Given the description of an element on the screen output the (x, y) to click on. 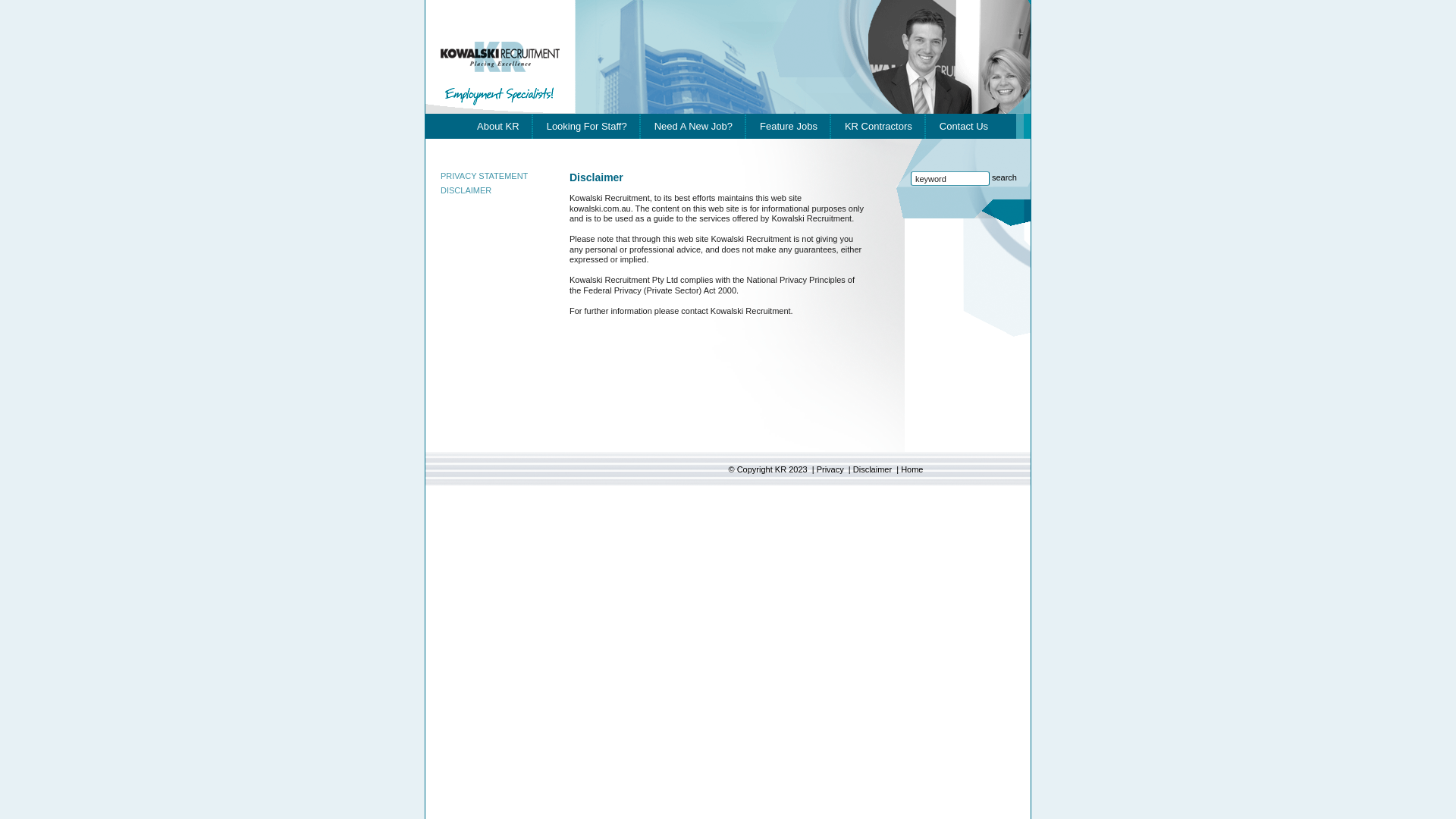
KR Contractors Element type: text (878, 125)
Home Element type: text (911, 468)
Need A New Job? Element type: text (693, 125)
Looking For Staff? Element type: text (586, 125)
search Element type: text (1003, 177)
About KR Element type: text (497, 125)
Contact Us Element type: text (963, 125)
Privacy Element type: text (830, 468)
PRIVACY STATEMENT Element type: text (483, 175)
Disclaimer Element type: text (872, 468)
Feature Jobs Element type: text (788, 125)
DISCLAIMER Element type: text (465, 189)
keyword Element type: text (949, 178)
